Given the description of an element on the screen output the (x, y) to click on. 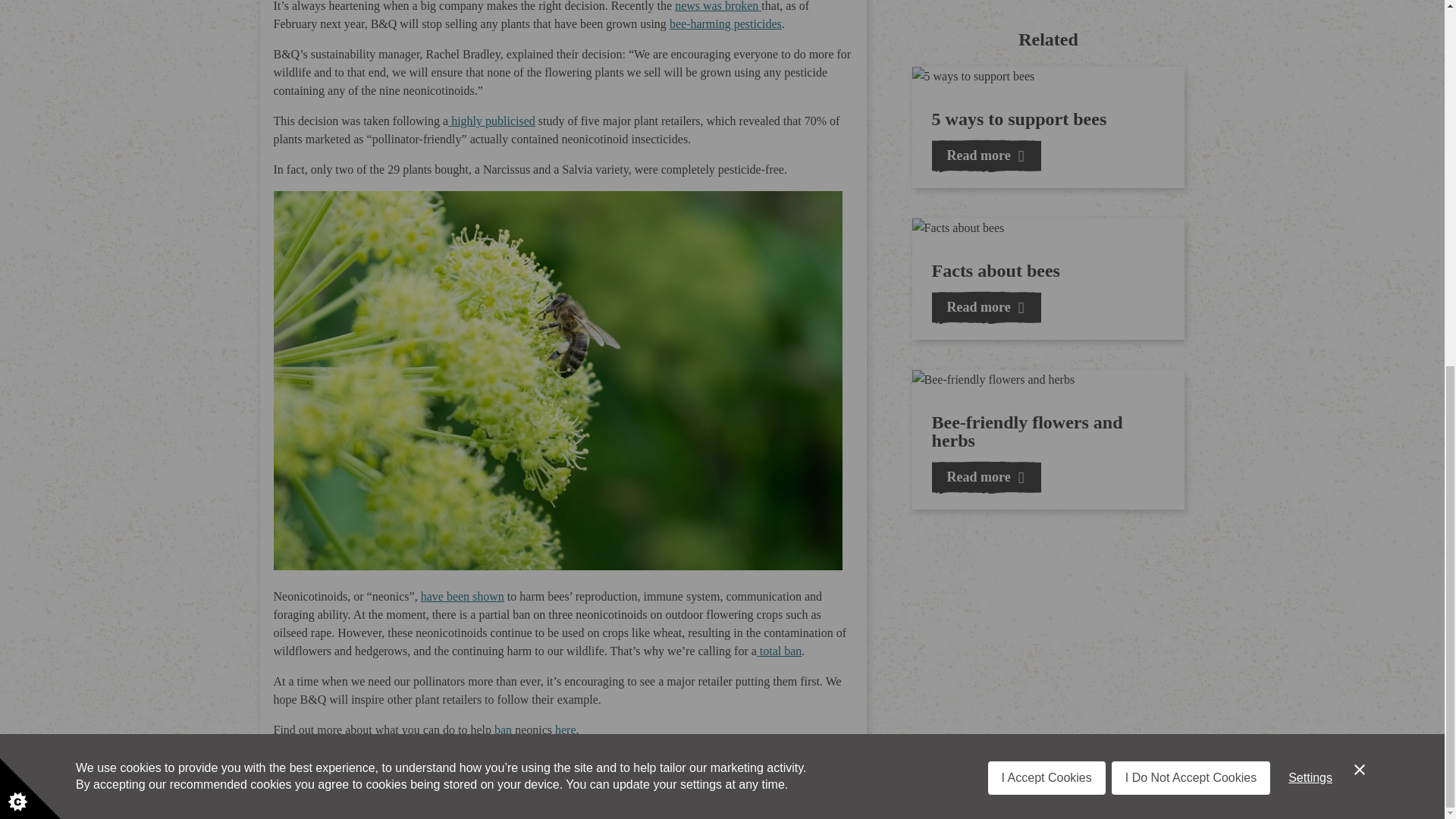
I Accept Cookies (1046, 183)
Ban Neonics (505, 729)
I Do Not Accept Cookies (1190, 176)
Bee Organic (725, 23)
Ban Neonics (563, 729)
Settings (1309, 160)
Ban Neonics (779, 650)
